Given the description of an element on the screen output the (x, y) to click on. 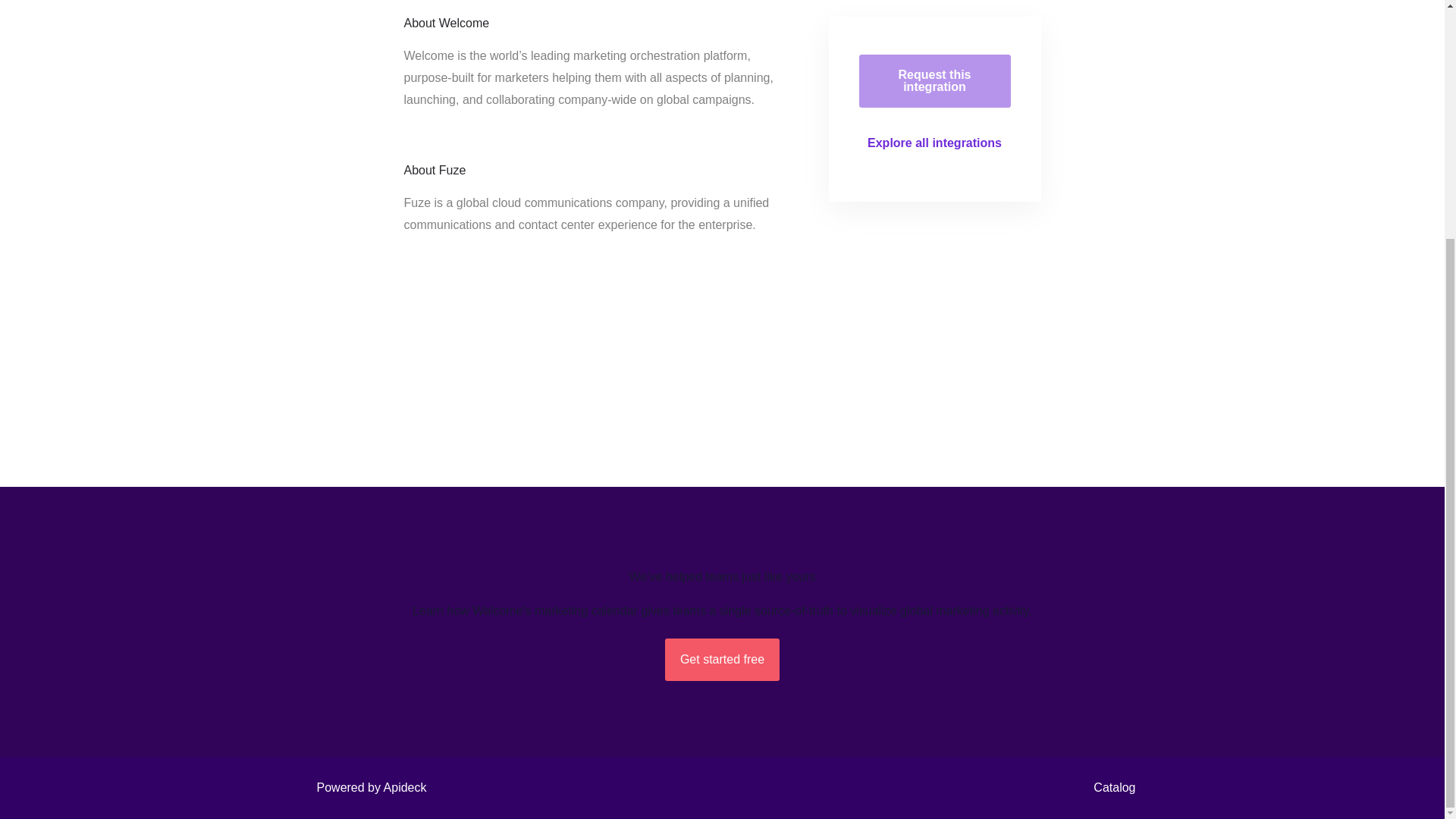
Catalog (1109, 787)
Explore all integrations (934, 142)
Powered by Apideck (366, 787)
Request this integration (934, 80)
Get started free (721, 659)
